Given the description of an element on the screen output the (x, y) to click on. 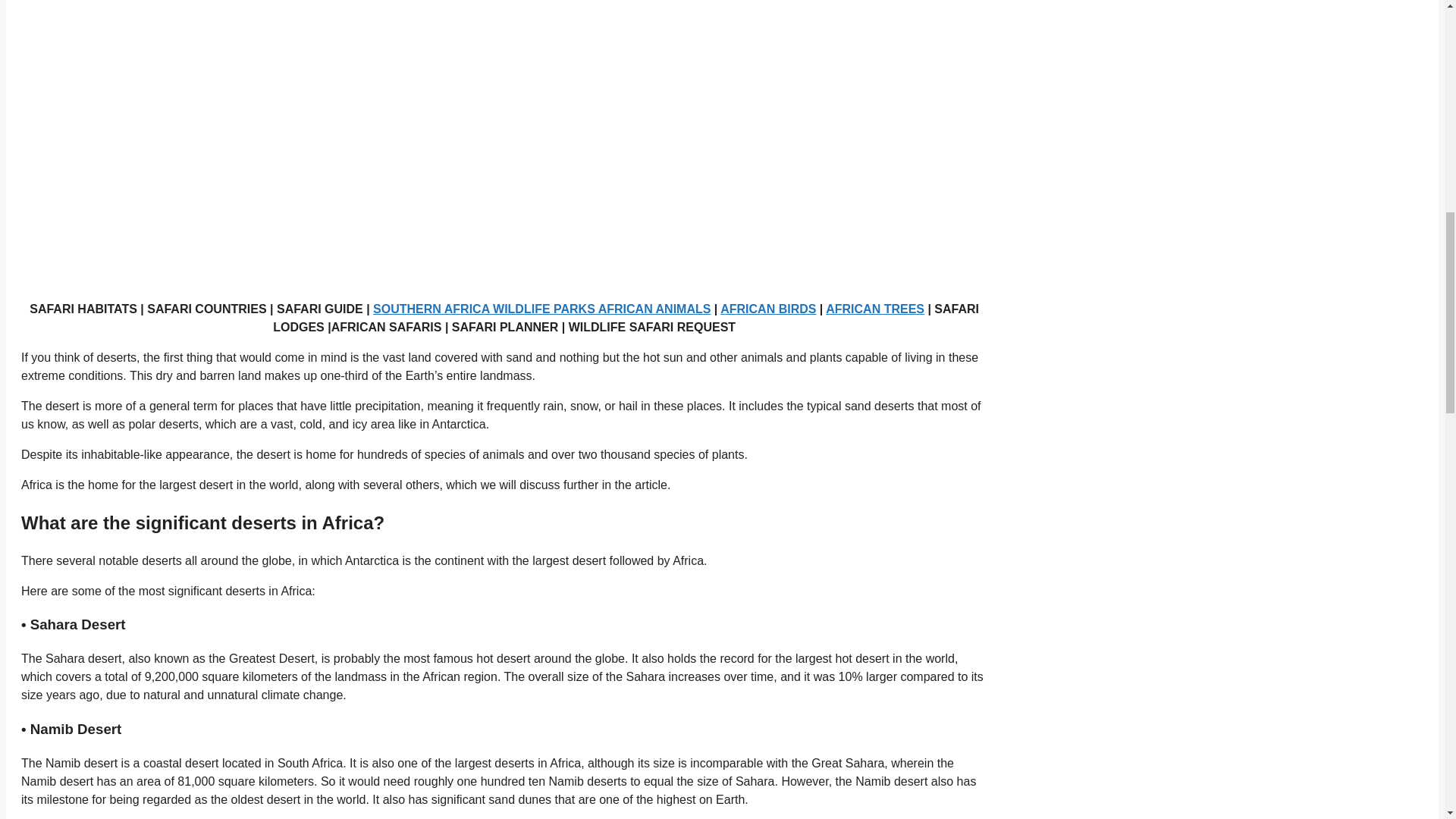
AFRICAN ANIMALS (654, 308)
AFRICAN TREES (874, 308)
SOUTHERN AFRICA WILDLIFE PARKS (485, 308)
AFRICAN BIRDS (767, 308)
